Given the description of an element on the screen output the (x, y) to click on. 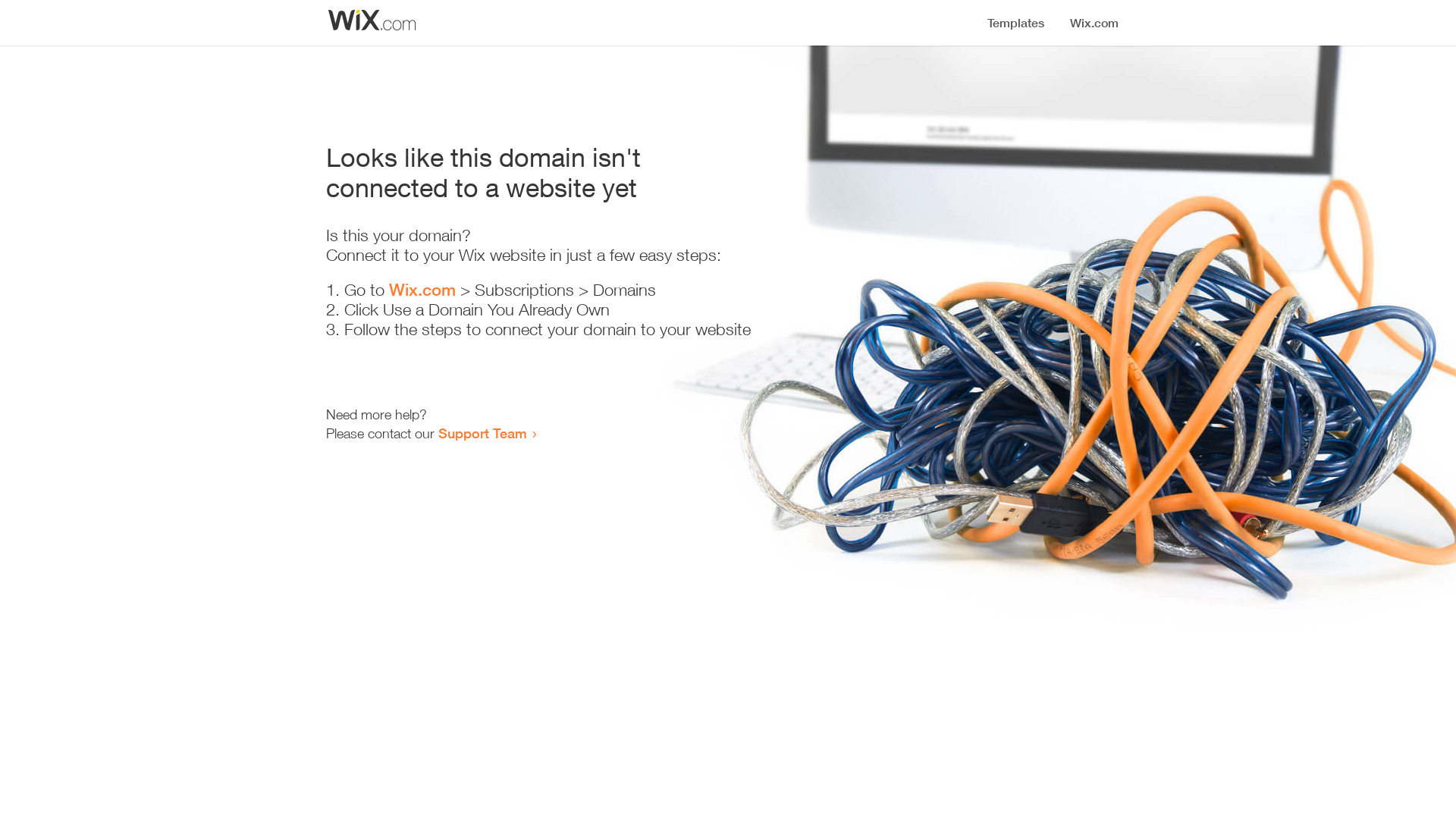
Wix.com Element type: text (422, 289)
Support Team Element type: text (482, 432)
